Given the description of an element on the screen output the (x, y) to click on. 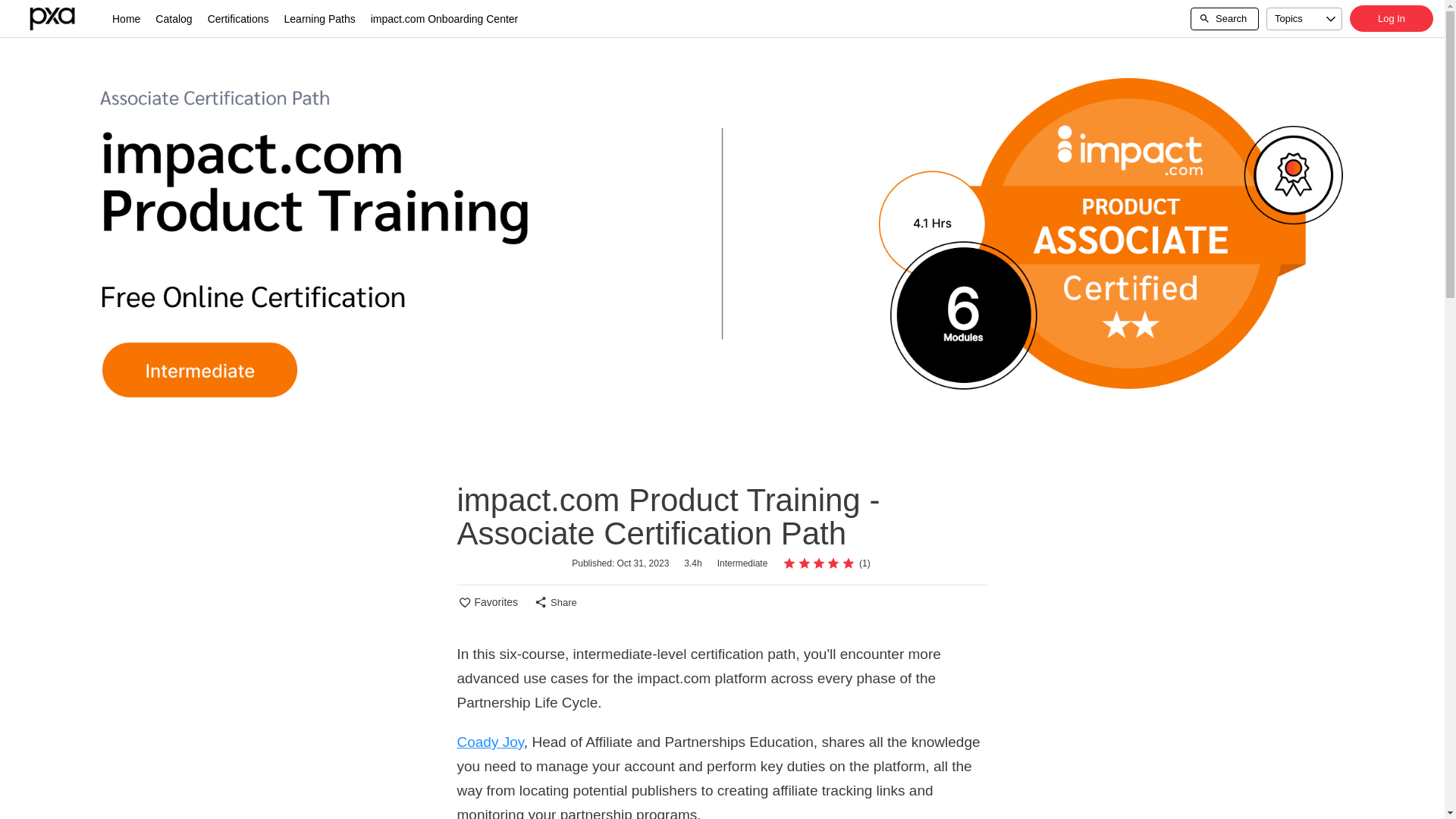
Topics (1304, 18)
Certifications (238, 18)
Coady Joy (489, 741)
Catalog (173, 18)
Log In (1390, 17)
Home (126, 18)
impact.com Onboarding Center (443, 18)
Favorites (487, 601)
